Given the description of an element on the screen output the (x, y) to click on. 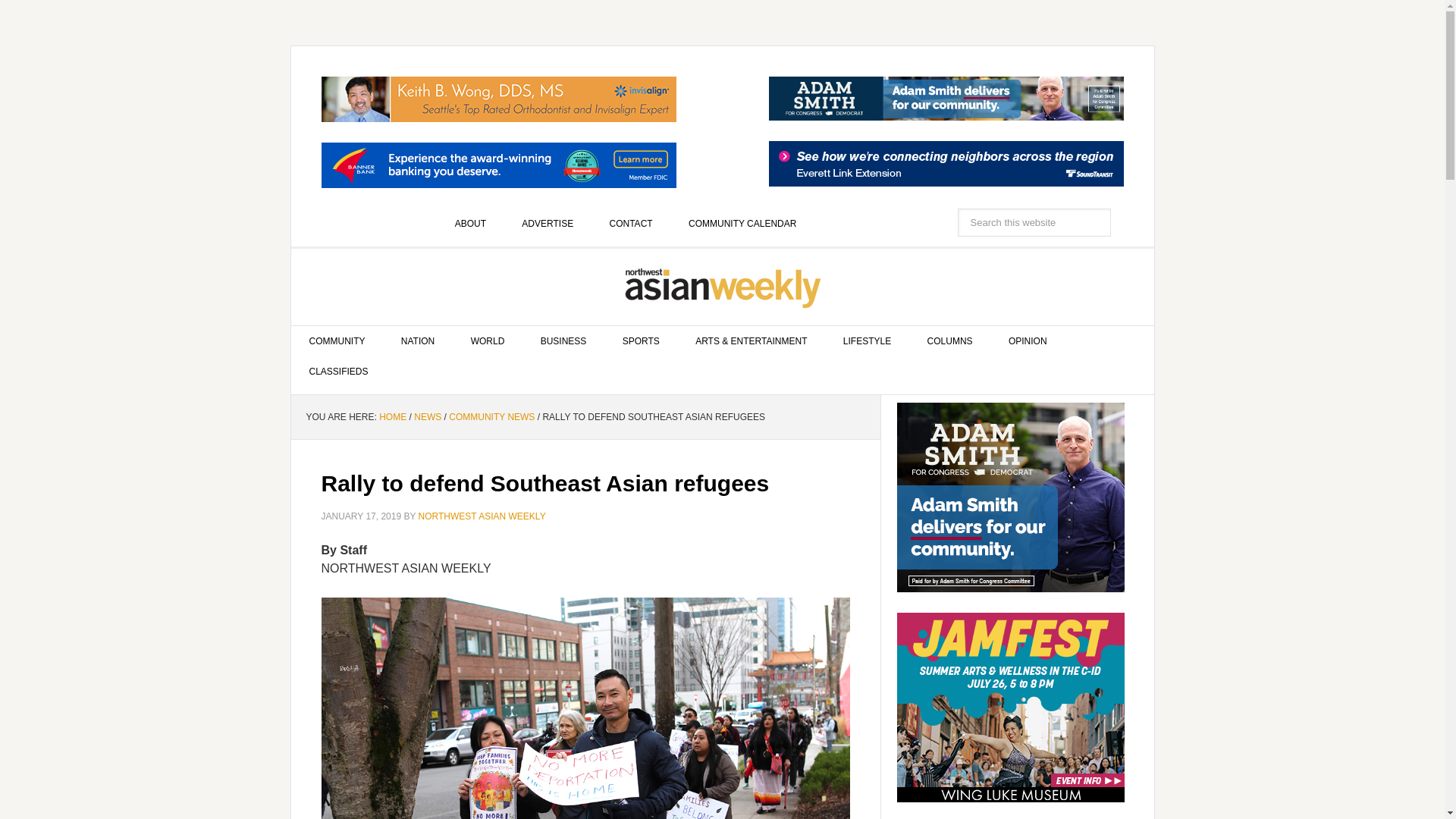
LIFESTYLE (866, 340)
NATION (417, 340)
ADVERTISE (547, 223)
HOME (392, 416)
ABOUT (469, 223)
WORLD (487, 340)
SPORTS (641, 340)
CLASSIFIEDS (339, 371)
OPINION (1027, 340)
NEWS (427, 416)
COMMUNITY CALENDAR (741, 223)
CONTACT (631, 223)
COMMUNITY (337, 340)
